Given the description of an element on the screen output the (x, y) to click on. 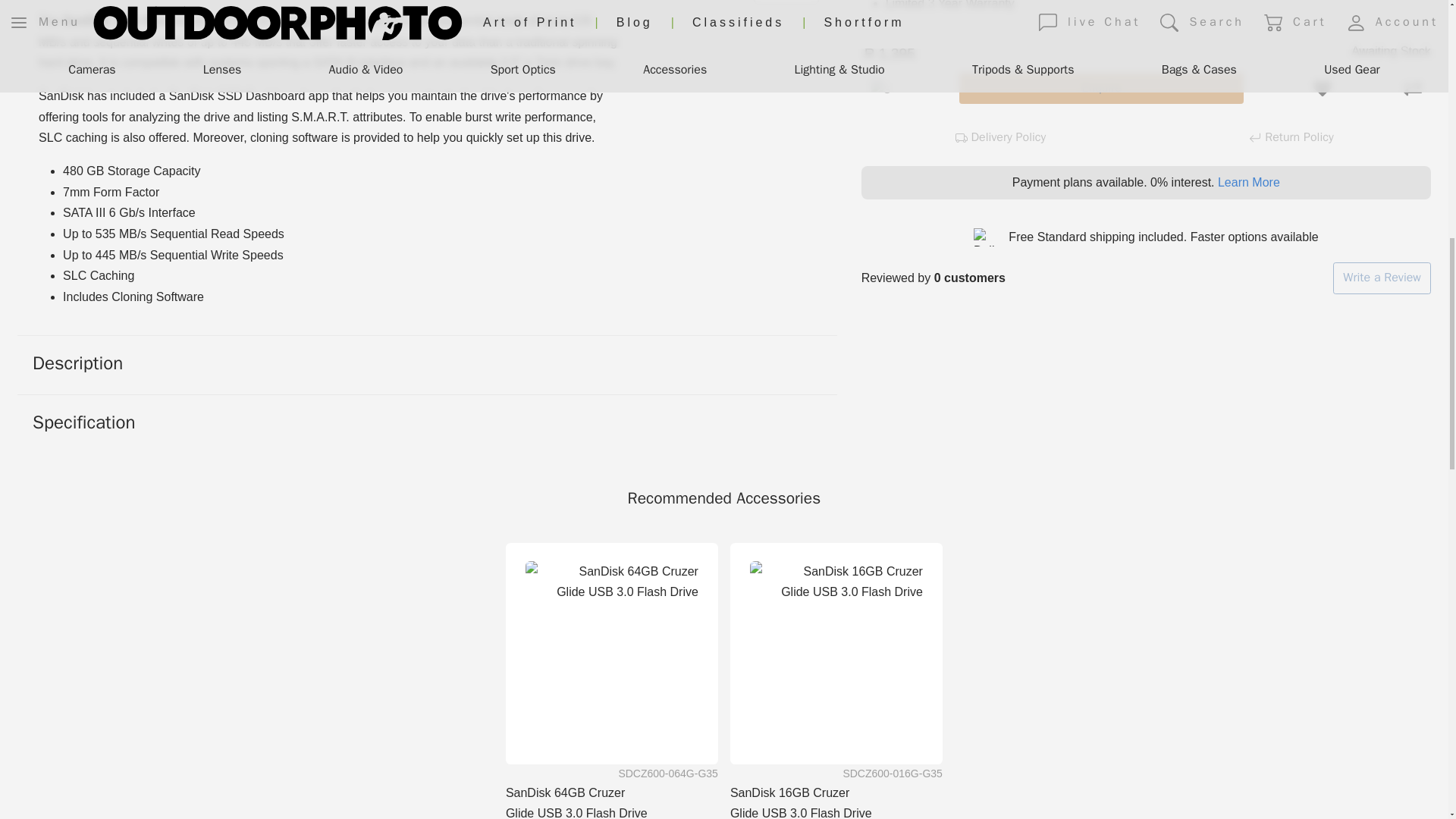
Compare this Product (1412, 88)
SanDisk 16GB Cruzer Glide USB 3.0 Flash Drive  (836, 647)
Add to Wishlist (1322, 88)
Description (427, 363)
Contact Me About Availability (1101, 88)
SanDisk 64GB Cruzer Glide USB 3.0 Flash Drive (611, 647)
Share this page (880, 88)
